Given the description of an element on the screen output the (x, y) to click on. 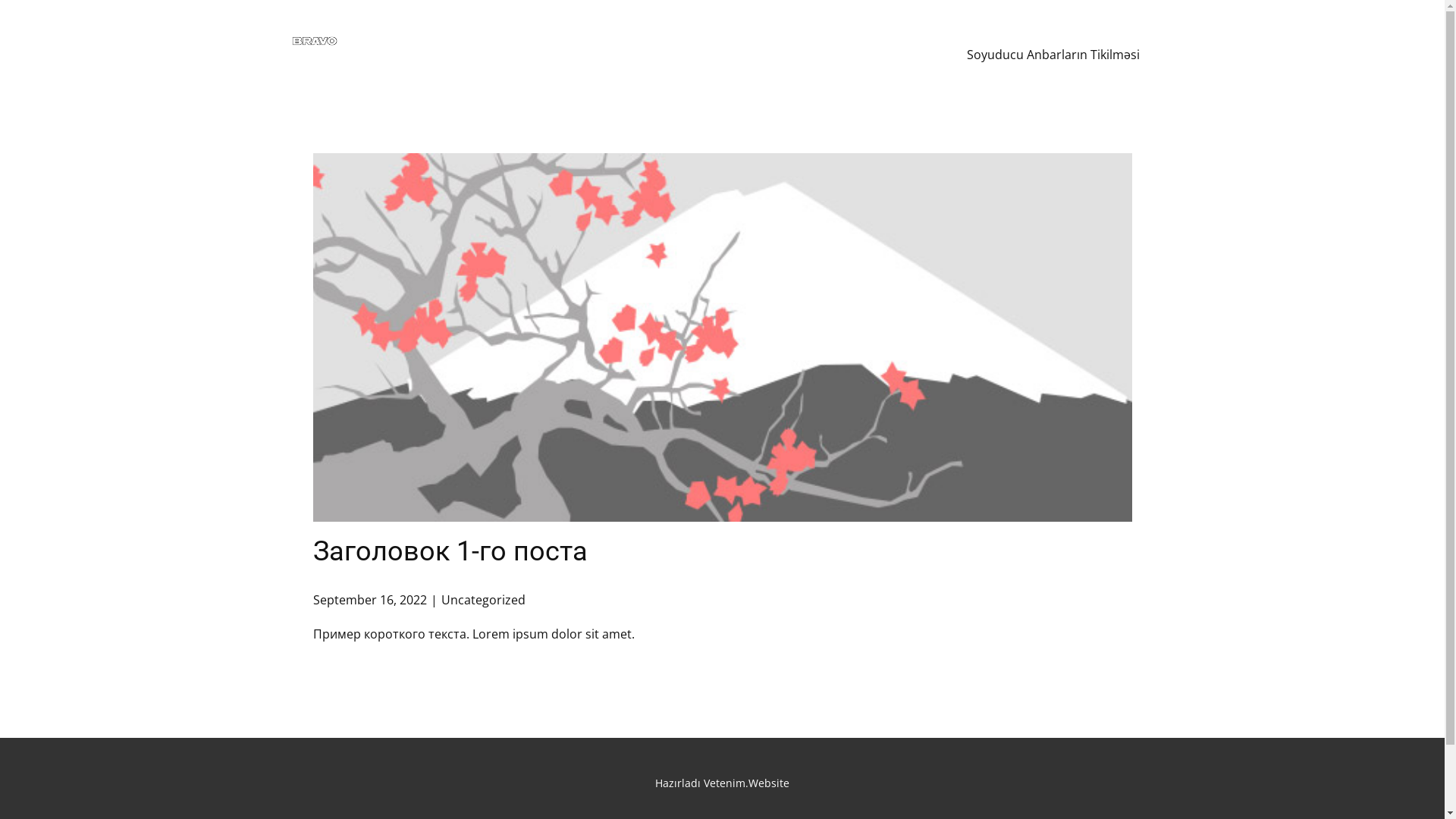
Uncategorized Element type: text (483, 599)
